Given the description of an element on the screen output the (x, y) to click on. 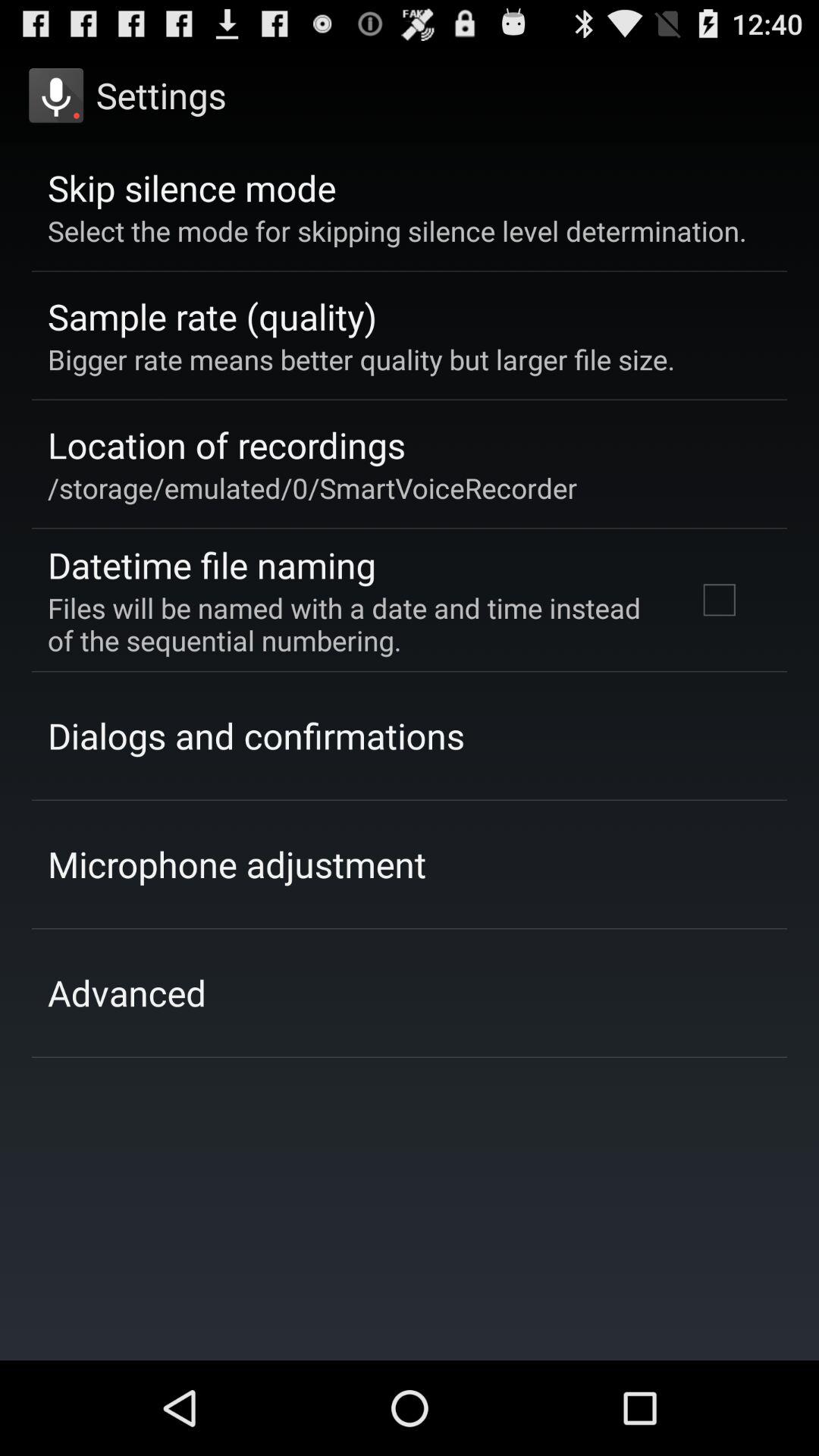
scroll until location of recordings item (226, 444)
